Given the description of an element on the screen output the (x, y) to click on. 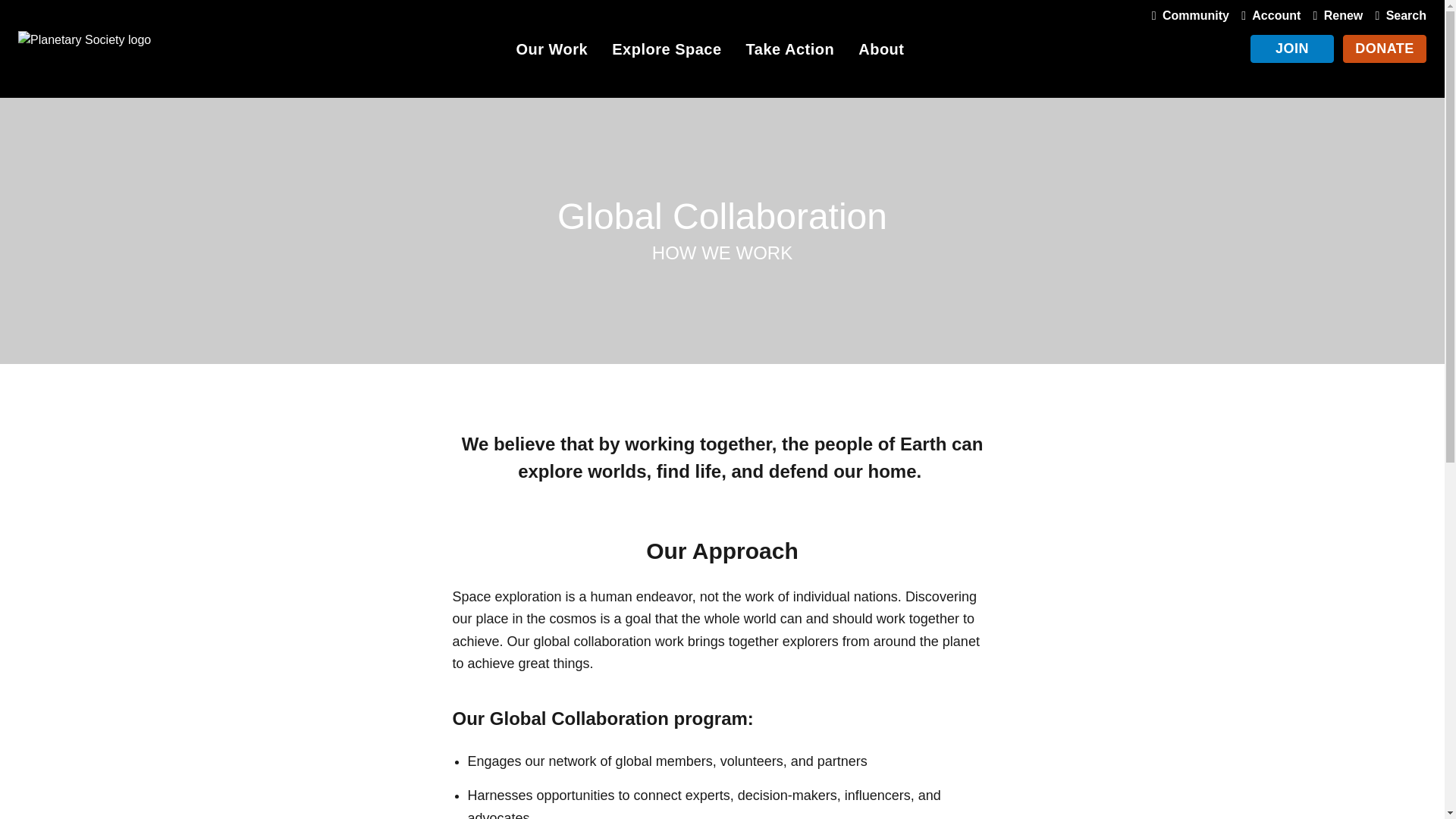
Explore Space (665, 51)
JOIN (1291, 49)
About (881, 51)
Account (1267, 15)
Our Work (551, 51)
Renew (1334, 15)
Community (1186, 15)
Take Action (789, 51)
DONATE (1384, 49)
Search (1397, 15)
